Given the description of an element on the screen output the (x, y) to click on. 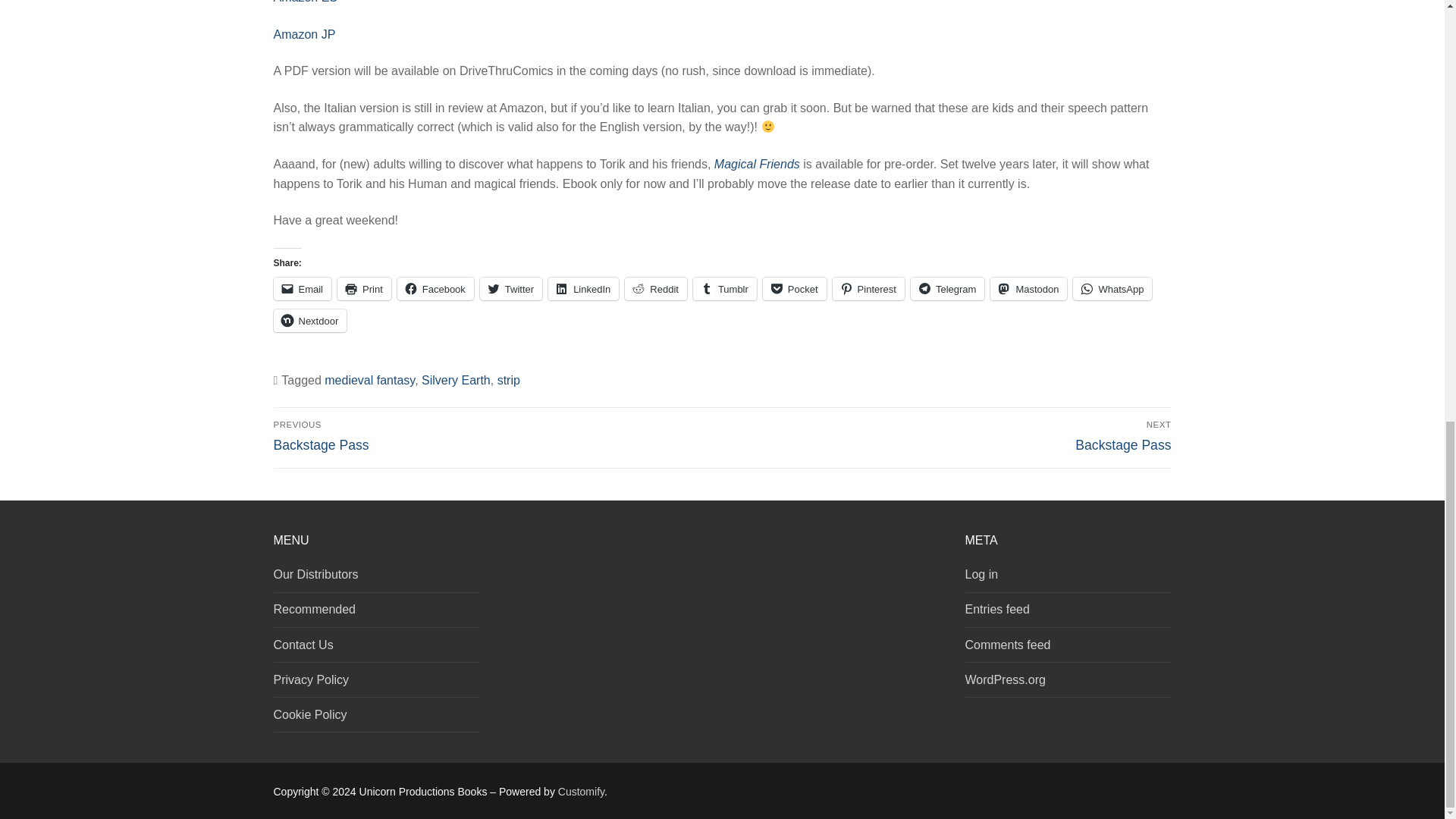
Click to share on WhatsApp (1112, 288)
Click to email a link to a friend (302, 288)
Click to print (364, 288)
Click to share on Facebook (435, 288)
Click to share on Twitter (510, 288)
Click to share on Tumblr (725, 288)
Click to share on Reddit (655, 288)
Click to share on Mastodon (1028, 288)
Click to share on Pinterest (868, 288)
Click to share on LinkedIn (583, 288)
Click to share on Pocket (794, 288)
Click to share on Nextdoor (309, 320)
Click to share on Telegram (947, 288)
